Given the description of an element on the screen output the (x, y) to click on. 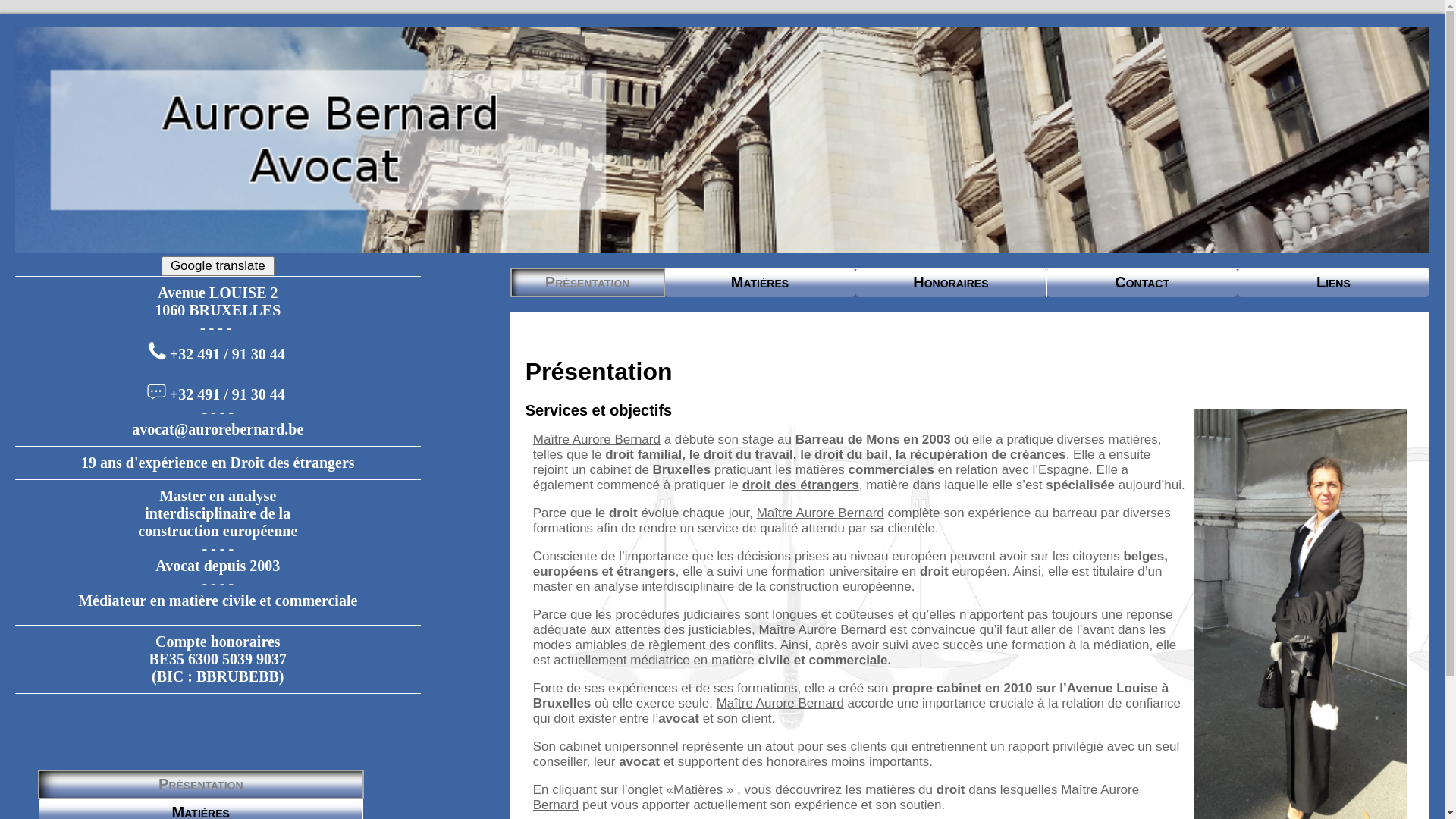
Contact Element type: text (1142, 281)
Envoyer un texto Element type: hover (156, 390)
Honoraires Element type: text (950, 281)
droit familial Element type: text (643, 454)
Coupole du Palais de justice de Bruxelles Element type: hover (722, 139)
Liens Element type: text (1333, 281)
avocat@aurorebernard.be Element type: text (217, 428)
 +32 491 / 91 30 44  Element type: text (227, 393)
le droit du bail Element type: text (844, 454)
 +32 491 / 91 30 44  Element type: text (227, 354)
Google translate Element type: text (217, 266)
honoraires Element type: text (796, 761)
